Given the description of an element on the screen output the (x, y) to click on. 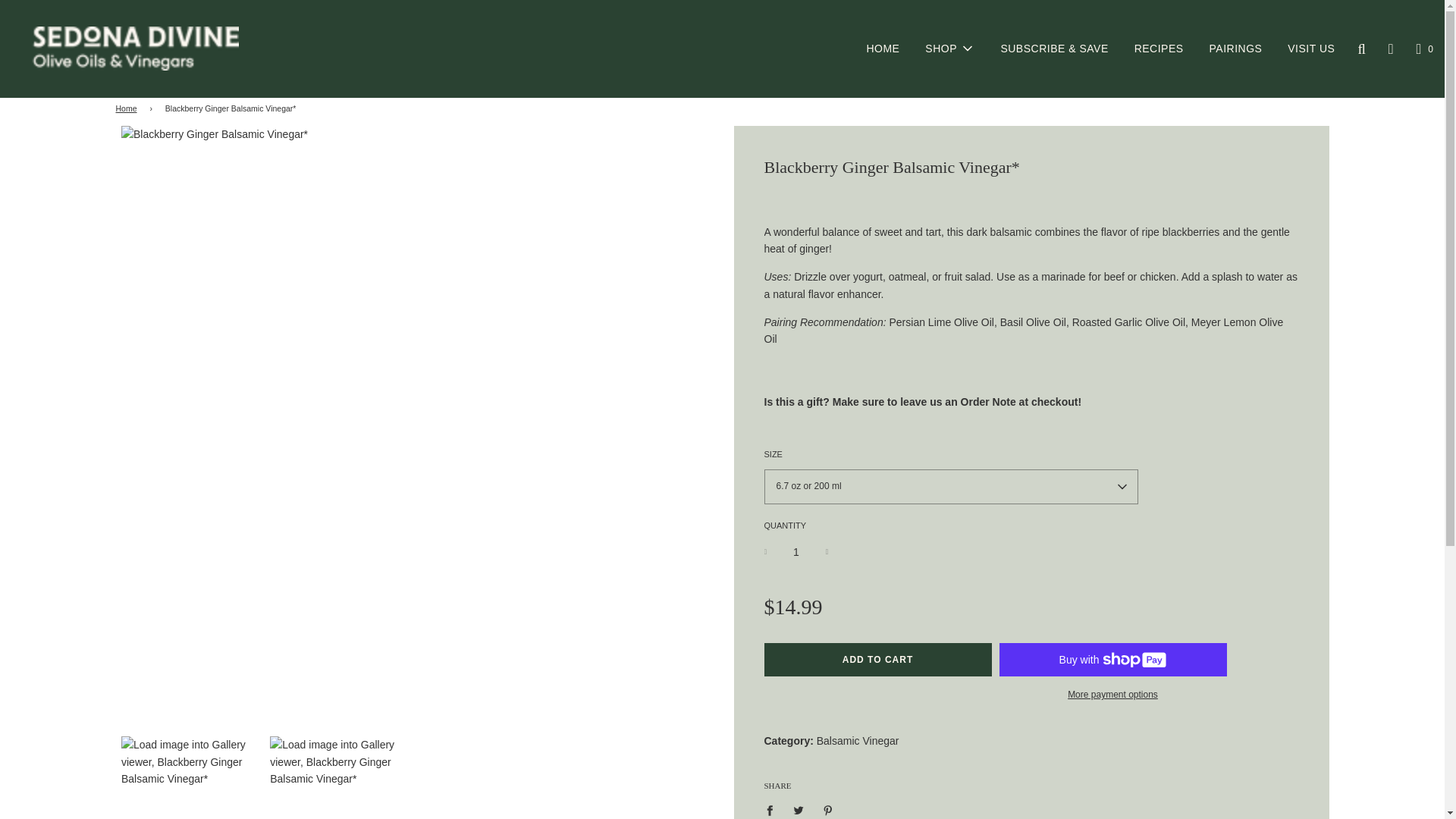
HOME (882, 48)
1 (796, 551)
SHOP (949, 47)
Back to the frontpage (128, 108)
